Given the description of an element on the screen output the (x, y) to click on. 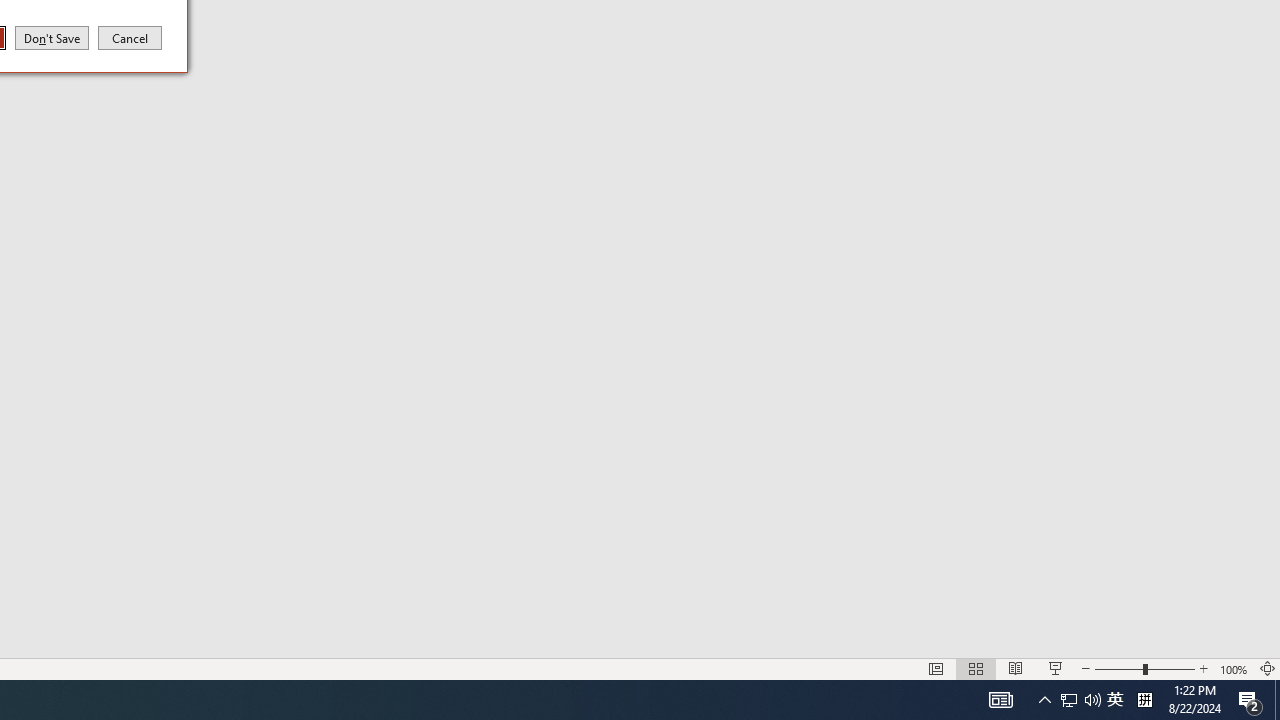
Cancel (130, 37)
